Given the description of an element on the screen output the (x, y) to click on. 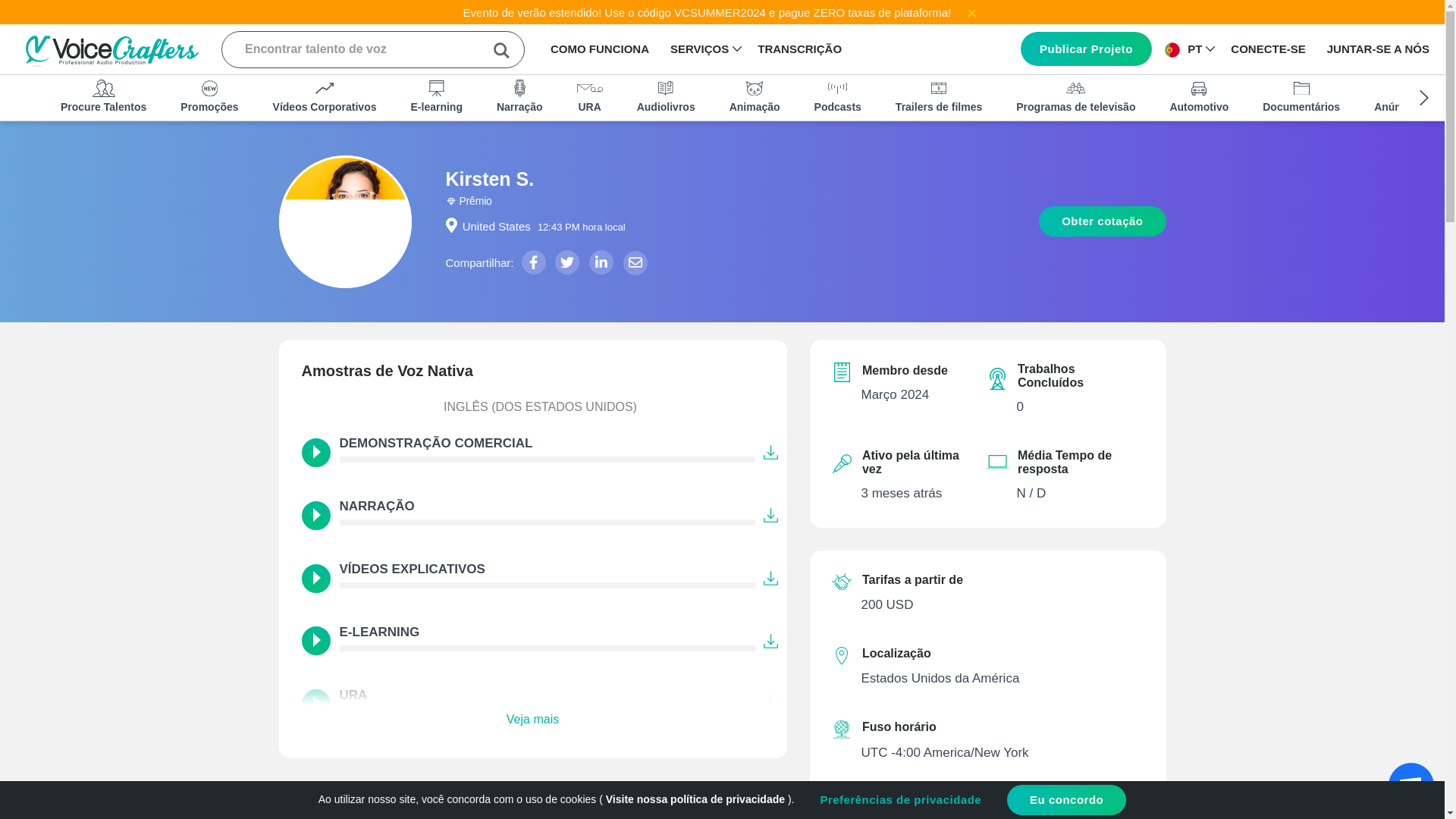
COMO FUNCIONA (599, 48)
Compartilhe pelo LinkedIn (600, 262)
Compartilhar via Twitter (566, 262)
Compartilhe pelo Facebook (533, 262)
Eu concordo (1066, 799)
